Given the description of an element on the screen output the (x, y) to click on. 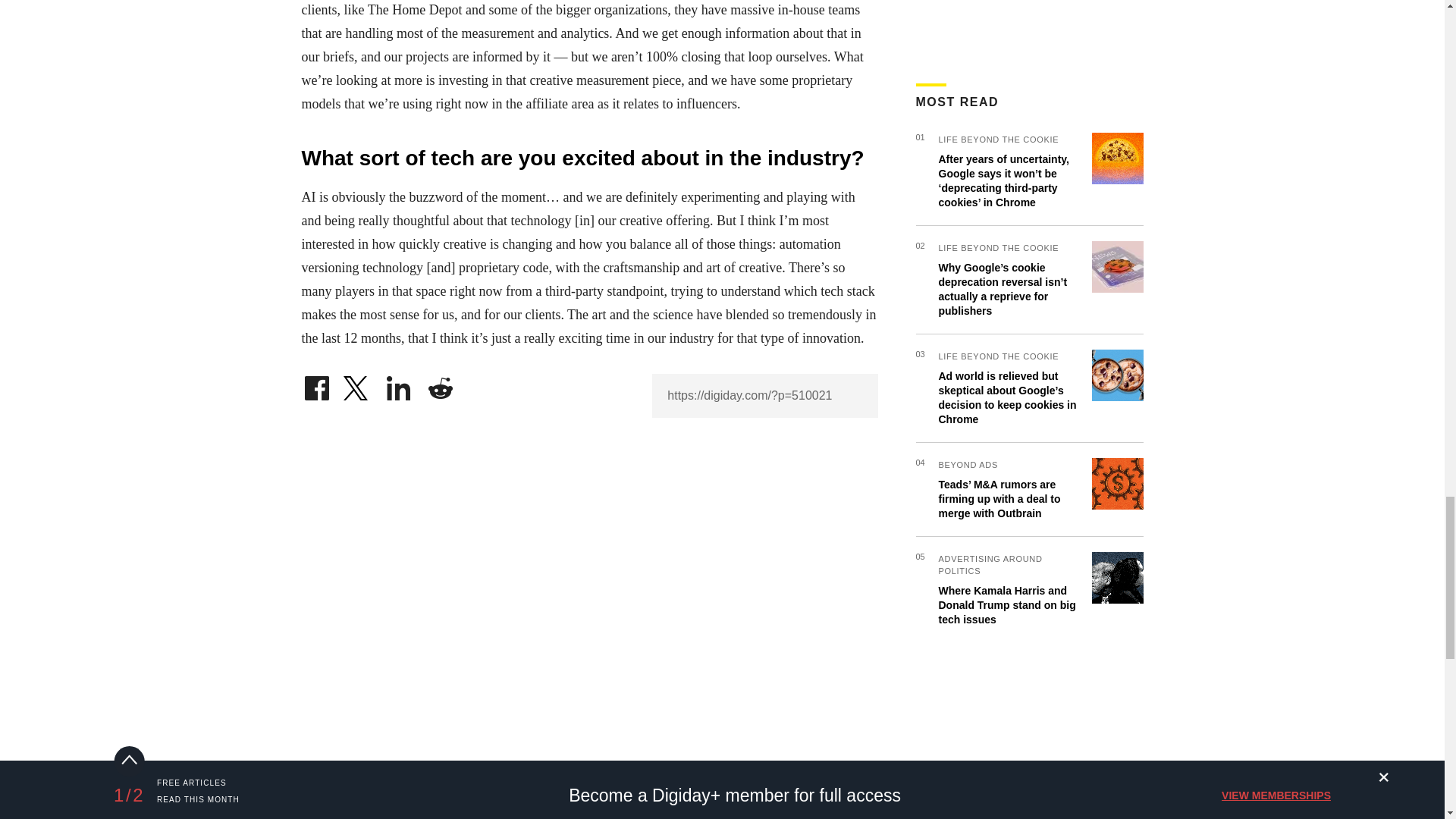
Share on Facebook (316, 384)
Share on LinkedIn (398, 384)
Share on Twitter (357, 384)
Share on Reddit (440, 384)
